Given the description of an element on the screen output the (x, y) to click on. 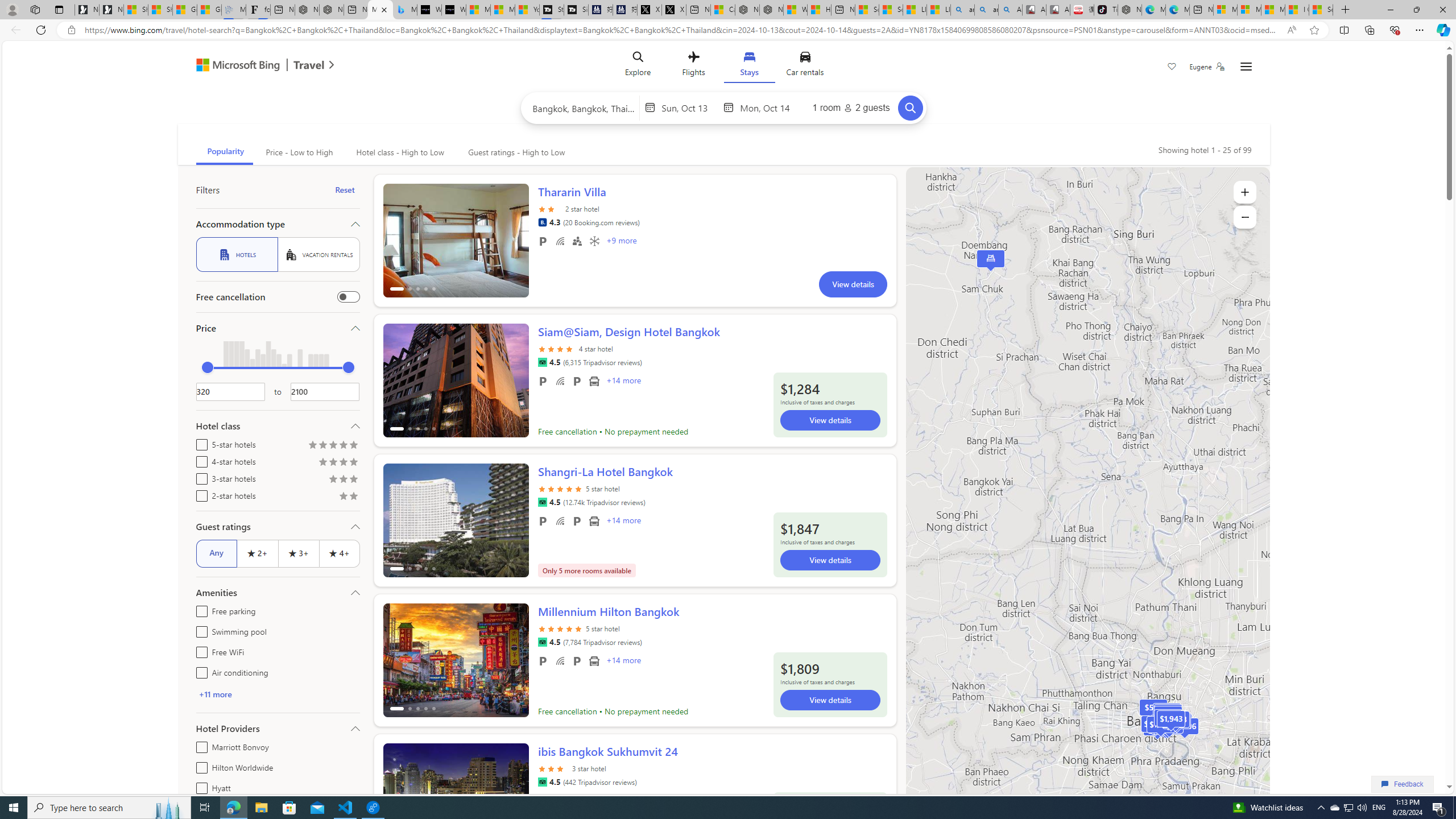
Accommodation type (277, 223)
Booking.com (542, 221)
2-star hotels (199, 493)
2+ (256, 553)
Explore (637, 65)
min  (207, 367)
Travel (308, 65)
Amenities (277, 592)
Reset (344, 189)
